Given the description of an element on the screen output the (x, y) to click on. 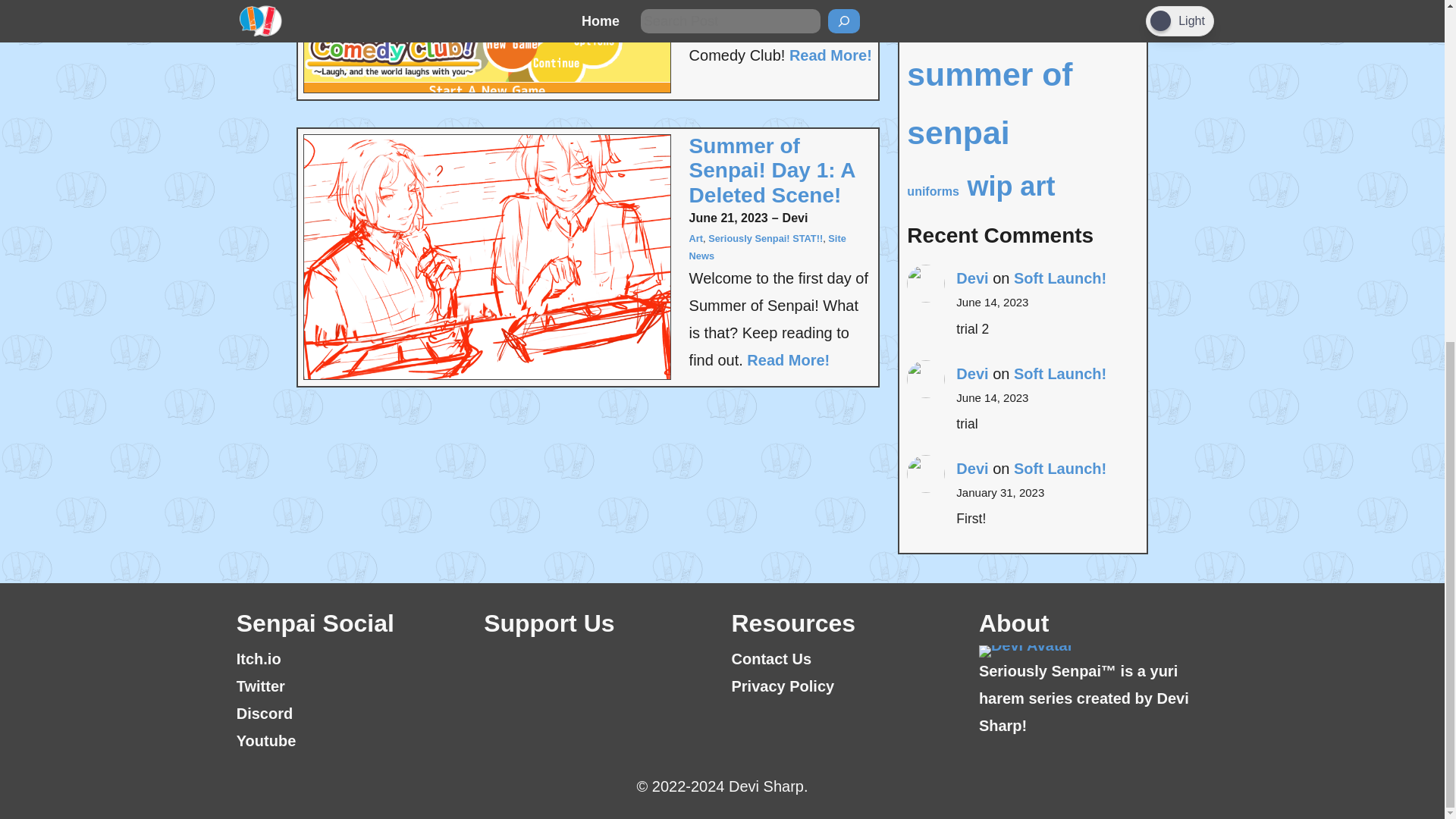
Art (695, 238)
Seriously Senpai! STAT!! (764, 238)
miley (941, 9)
Site News (766, 246)
Read More! (830, 54)
Read More! (787, 359)
natalia (1004, 4)
Summer of Senpai! Day 1: A Deleted Scene! (780, 171)
